Given the description of an element on the screen output the (x, y) to click on. 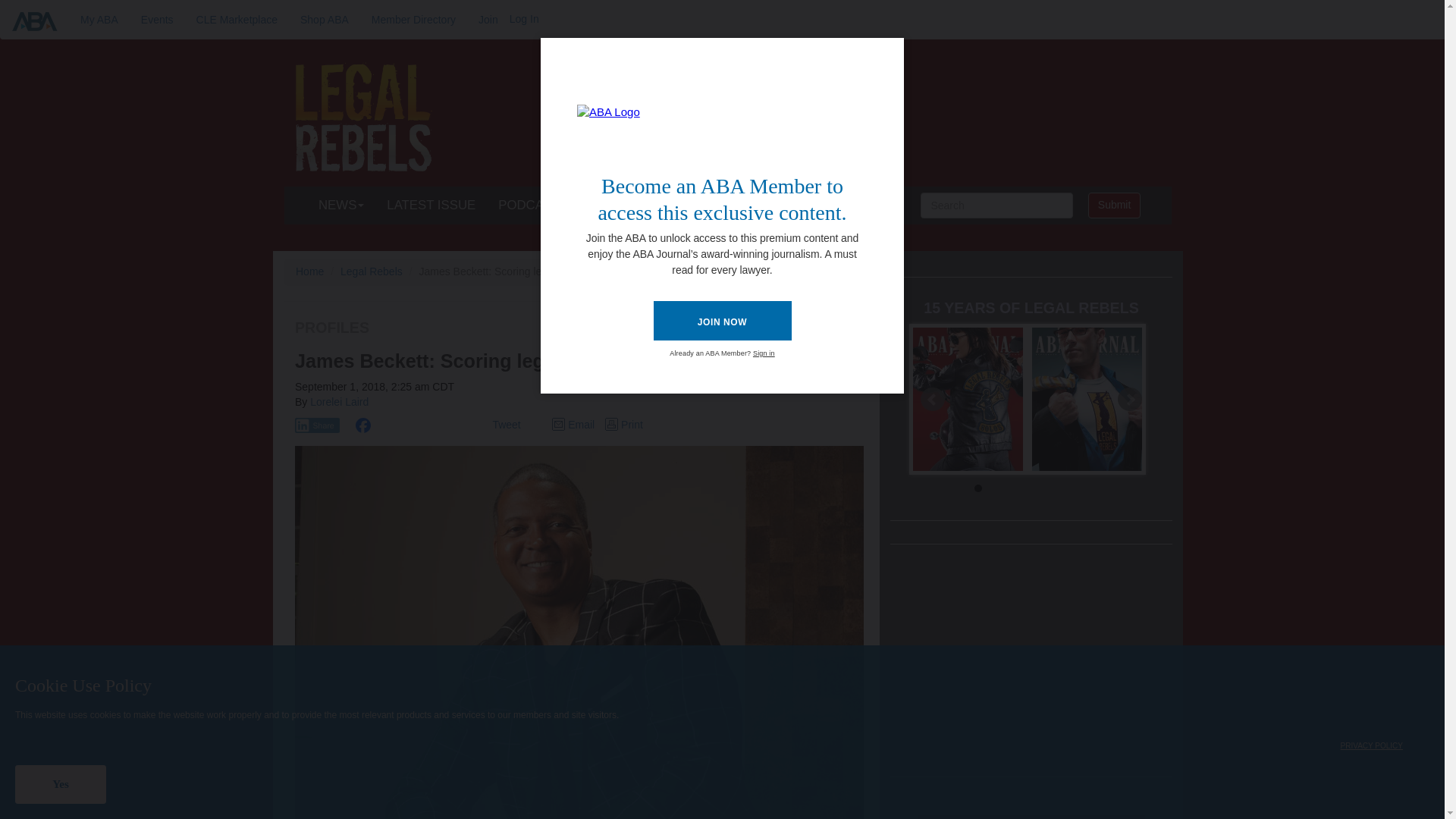
Shop ABA (323, 19)
Log In (523, 19)
Shop ABA (323, 19)
Member Directory (488, 19)
LATEST ISSUE (430, 205)
CLE Marketplace (236, 19)
Home (309, 271)
Member Directory (413, 19)
Legal Rebels (371, 271)
COLUMNISTS (644, 205)
View this author's information (339, 401)
Member Directory (413, 19)
Join (488, 19)
My ABA (98, 19)
MEMBERS WHO INSPIRE (789, 205)
